Given the description of an element on the screen output the (x, y) to click on. 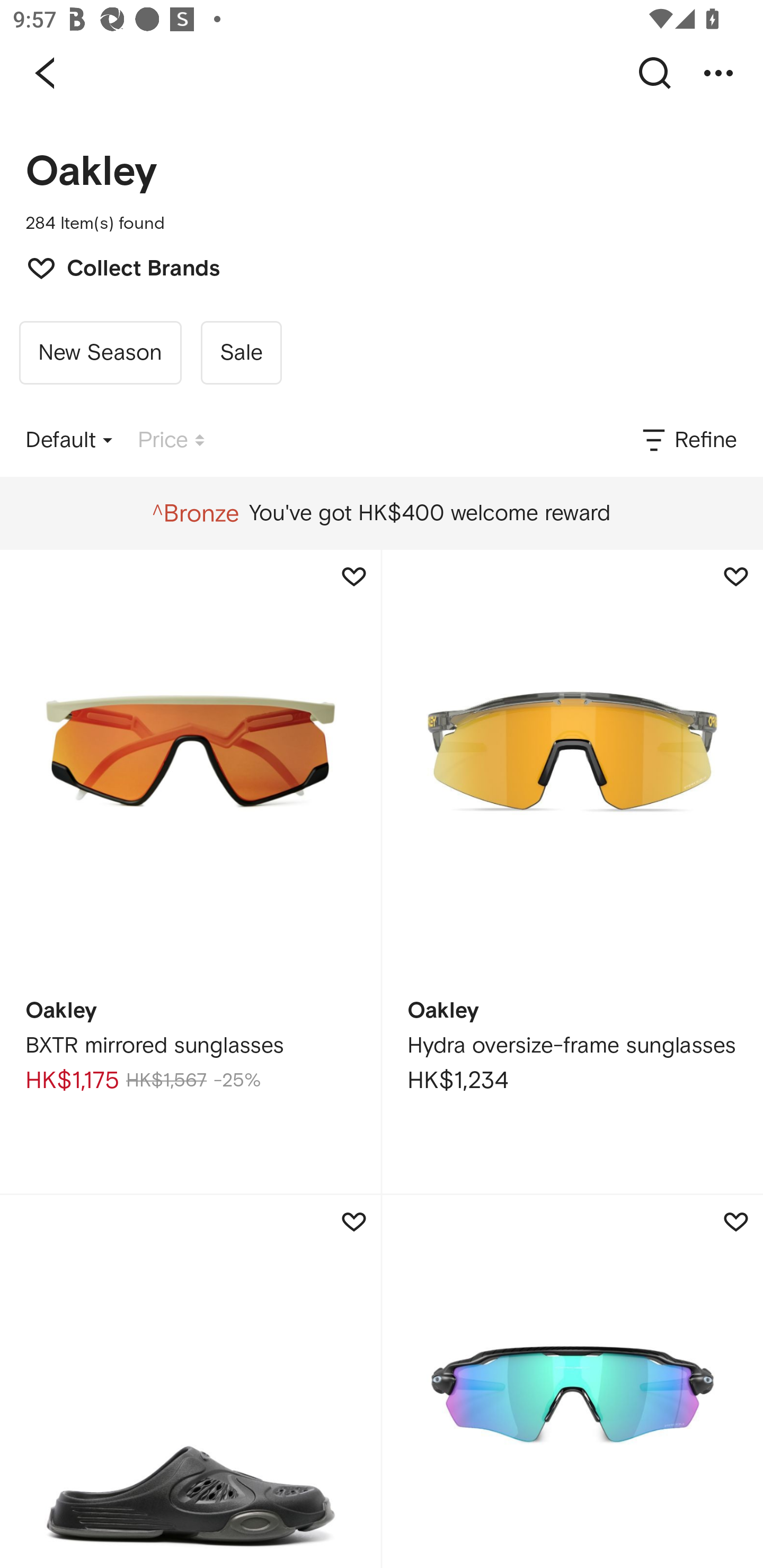
Collect Brands (114, 266)
New Season (100, 352)
Sale (240, 352)
Default (68, 440)
Price (171, 440)
Refine (688, 440)
You've got HK$400 welcome reward (381, 513)
Oakley Hydra oversize-frame sunglasses  HK$1,234 (572, 871)
